Given the description of an element on the screen output the (x, y) to click on. 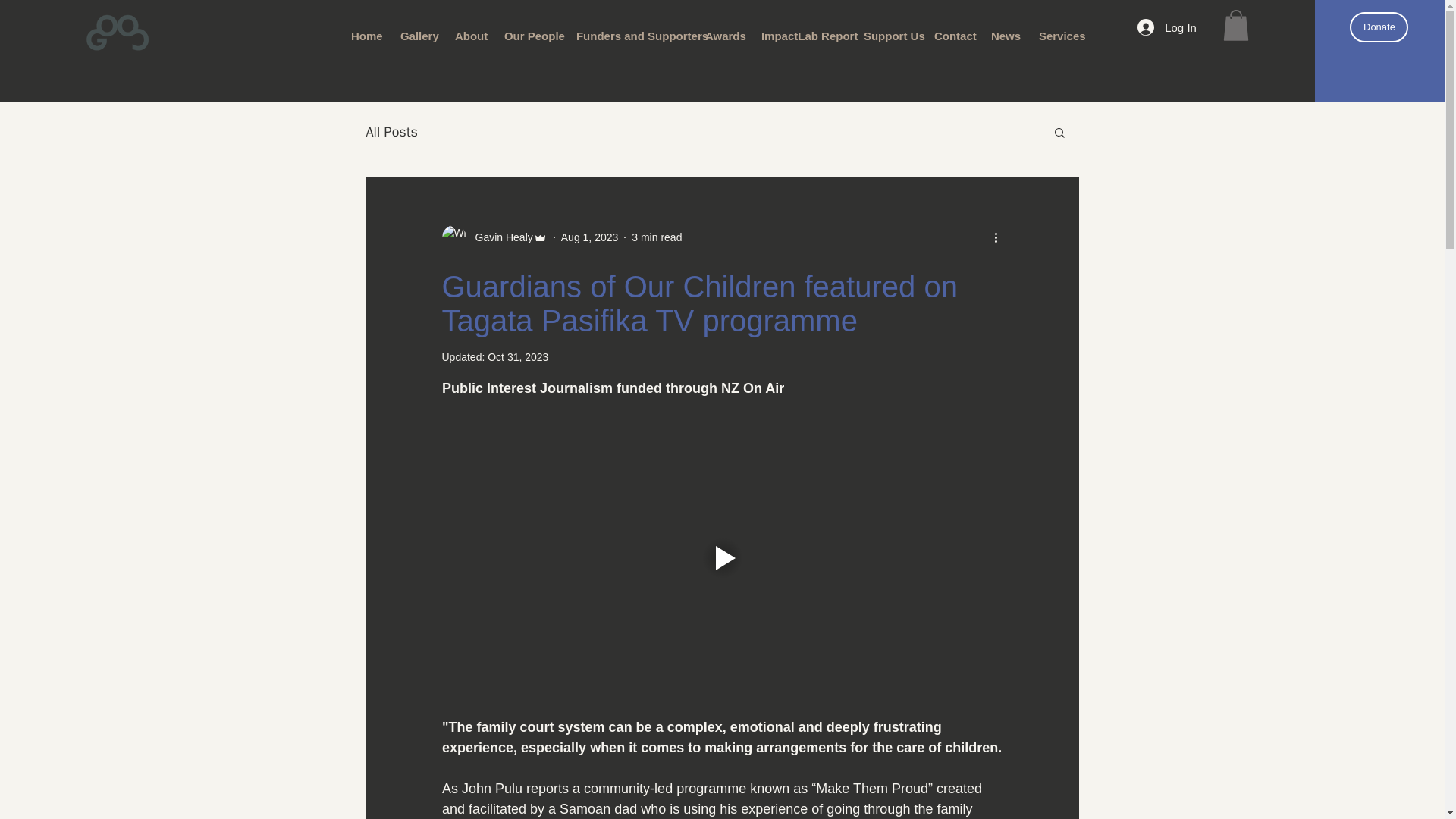
Aug 1, 2023 (589, 236)
Oct 31, 2023 (517, 357)
Funders and Supporters (629, 36)
3 min read (656, 236)
ImpactLab Report (800, 36)
Log In (1166, 27)
Donate (1378, 27)
Gavin Healy (498, 236)
Gavin Healy (494, 237)
Support Us (887, 36)
